Given the description of an element on the screen output the (x, y) to click on. 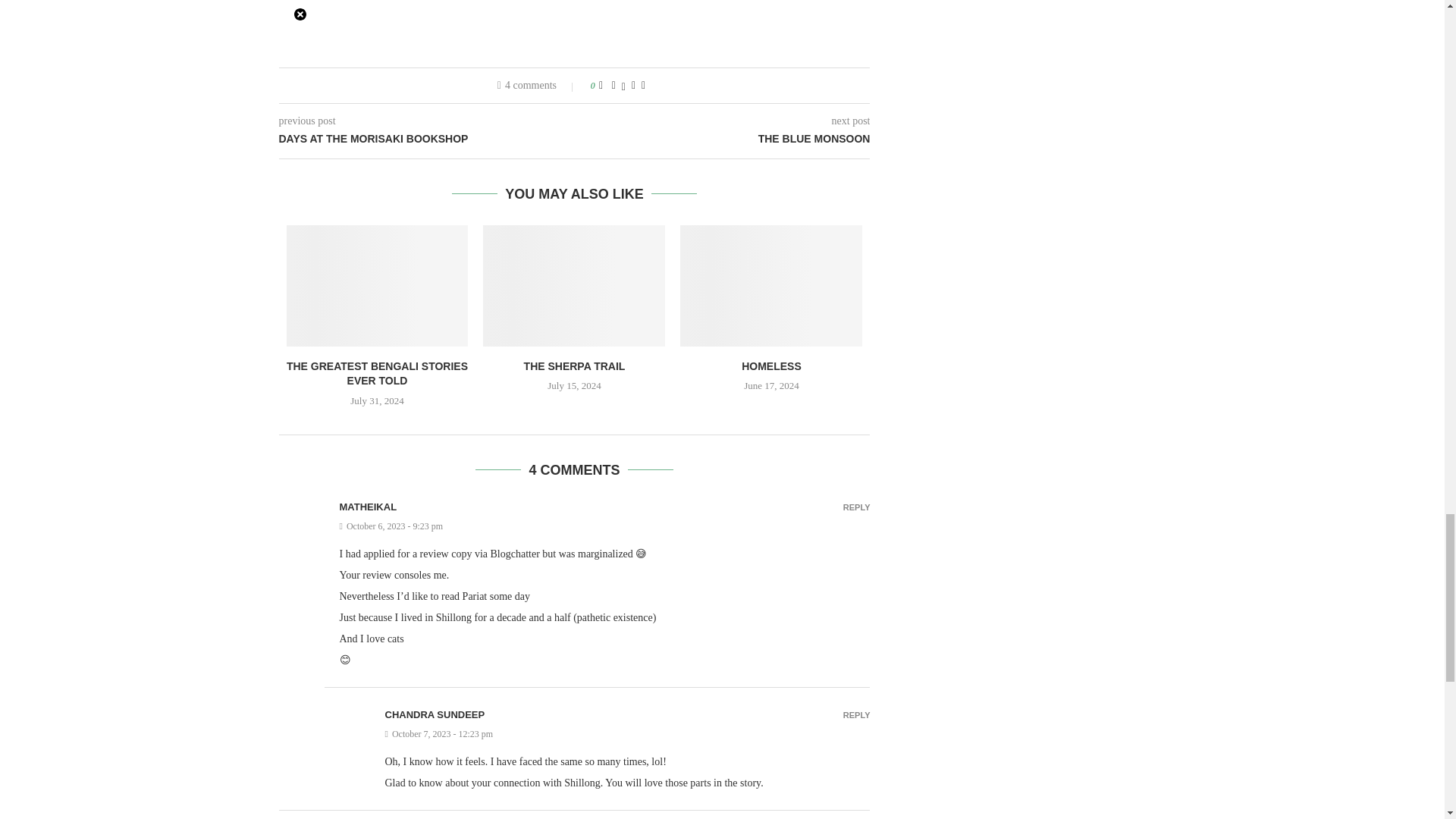
The Greatest Bengali Stories Ever Told (377, 285)
DAYS AT THE MORISAKI BOOKSHOP (427, 139)
THE BLUE MONSOON (722, 139)
The Sherpa Trail (574, 285)
Homeless (770, 285)
